Given the description of an element on the screen output the (x, y) to click on. 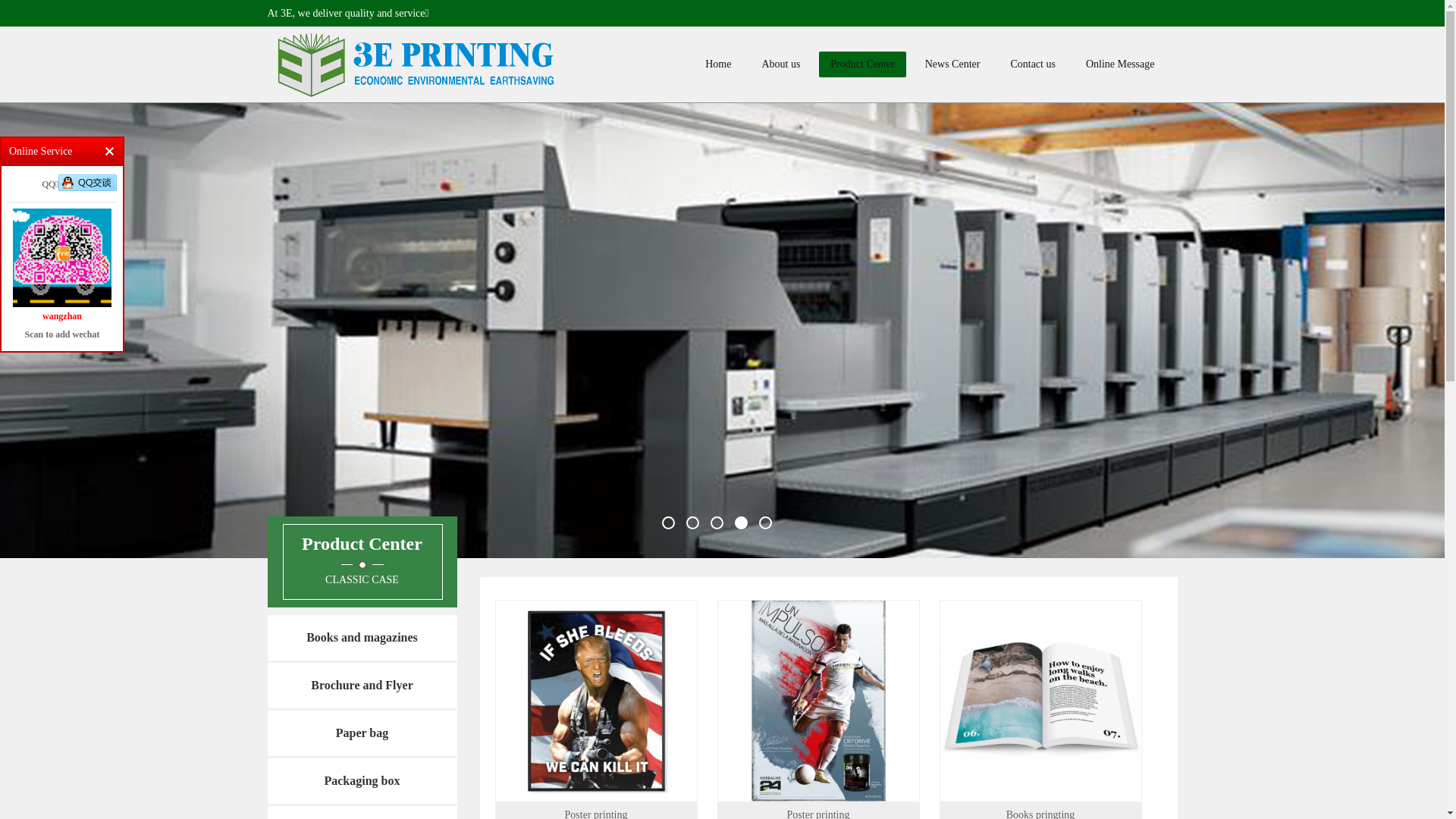
Brochure and Flyer Element type: text (361, 685)
Poster printing Element type: hover (595, 700)
Packaging box Element type: text (361, 780)
Books pringting Element type: hover (1040, 700)
Home Element type: text (717, 64)
Scan to add wechat Element type: hover (61, 257)
Paper bag Element type: text (361, 733)
Contact us Element type: text (1032, 64)
About us Element type: text (780, 64)
Product Center Element type: text (862, 64)
Online Message Element type: text (1120, 64)
News Center Element type: text (952, 64)
3e printing Element type: hover (418, 65)
Books and magazines Element type: text (361, 637)
Poster printing Element type: hover (817, 700)
